Given the description of an element on the screen output the (x, y) to click on. 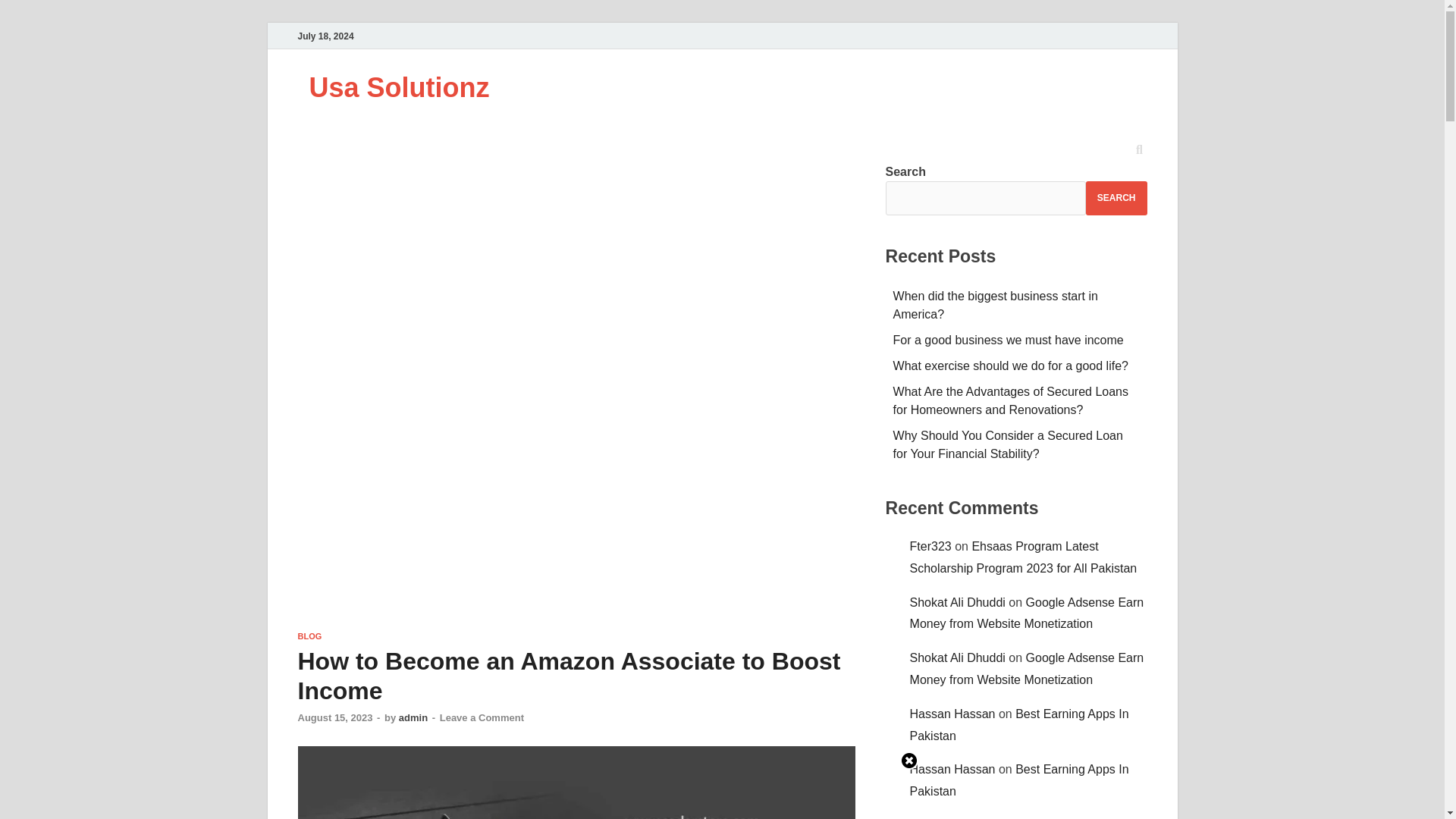
Usa Solutionz (398, 87)
SEARCH (1116, 197)
Google Adsense Earn Money from Website Monetization (1027, 613)
Hassan Hassan (952, 768)
Fter323 (931, 545)
Best Earning Apps In Pakistan (1019, 724)
Hassan Hassan (952, 713)
Google Adsense Earn Money from Website Monetization (1027, 668)
Shokat Ali Dhuddi (958, 602)
For a good business we must have income (1008, 339)
Leave a Comment (481, 717)
What exercise should we do for a good life? (1010, 365)
BLOG (309, 635)
admin (413, 717)
